Given the description of an element on the screen output the (x, y) to click on. 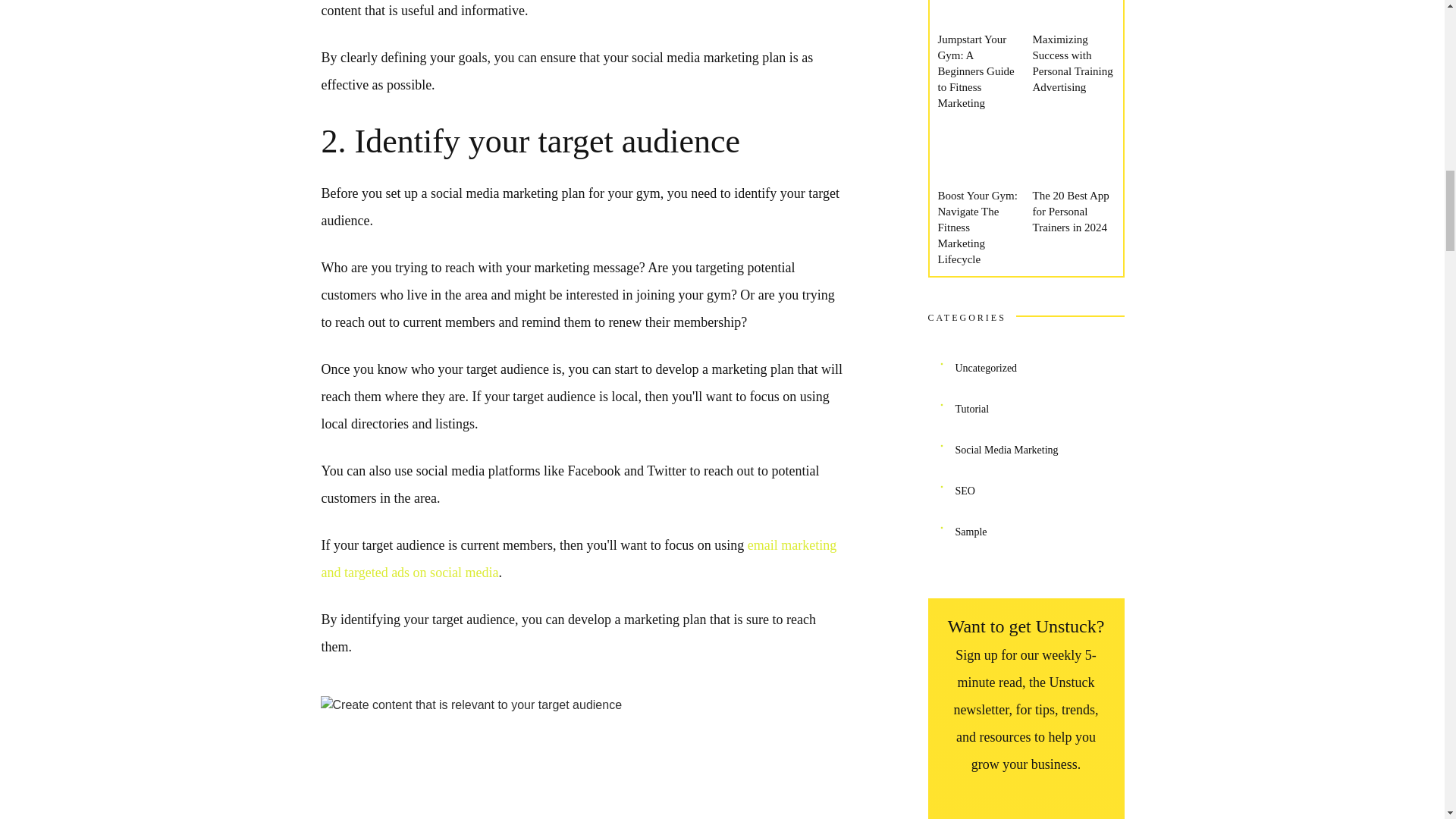
email marketing and targeted ads on social media (579, 558)
Boost Your Gym: Navigate The Fitness Marketing Lifecycle (976, 227)
Maximizing Success with Personal Training Advertising (1072, 63)
The 20 Best App for Personal Trainers in 2024 (1070, 211)
Maximizing Success with Personal Training Advertising (1072, 63)
Social Media Marketing (1006, 450)
Jumpstart Your Gym: A Beginners Guide to Fitness Marketing (975, 70)
Boost Your Gym: Navigate The Fitness Marketing Lifecycle (976, 227)
Uncategorized (986, 368)
Tutorial (972, 409)
